Given the description of an element on the screen output the (x, y) to click on. 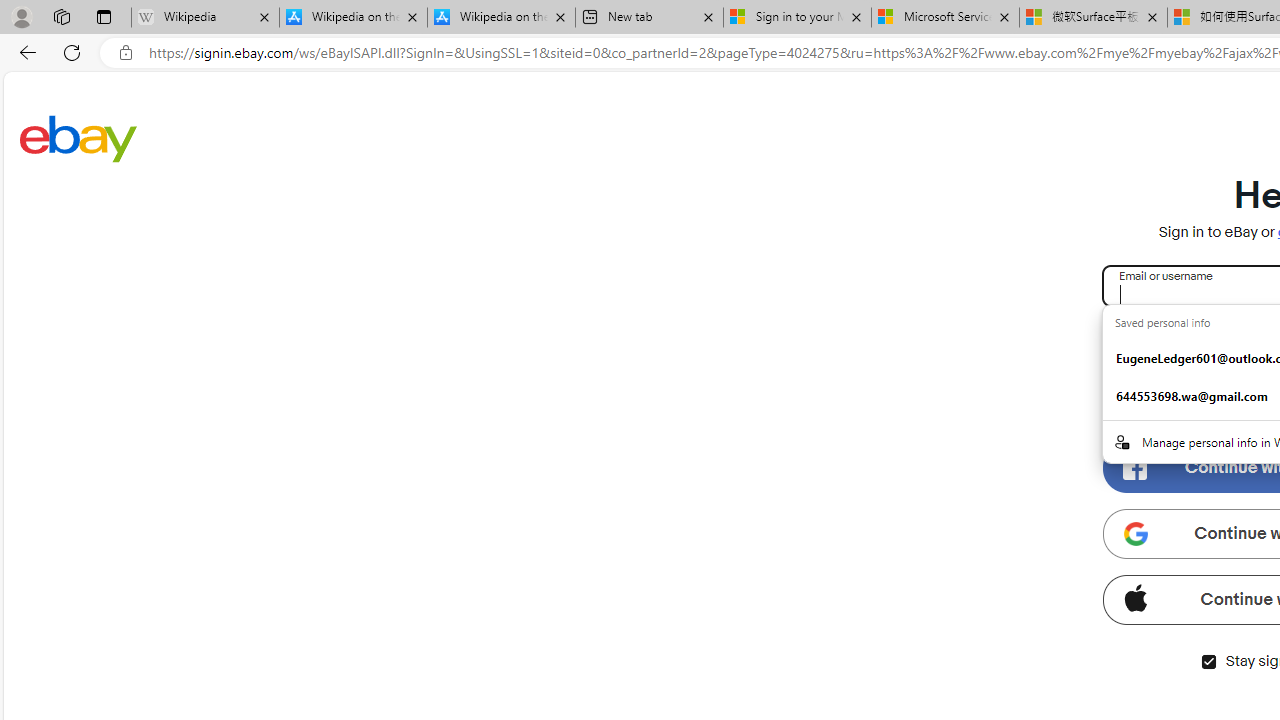
Class: apple-icon (1135, 597)
